Given the description of an element on the screen output the (x, y) to click on. 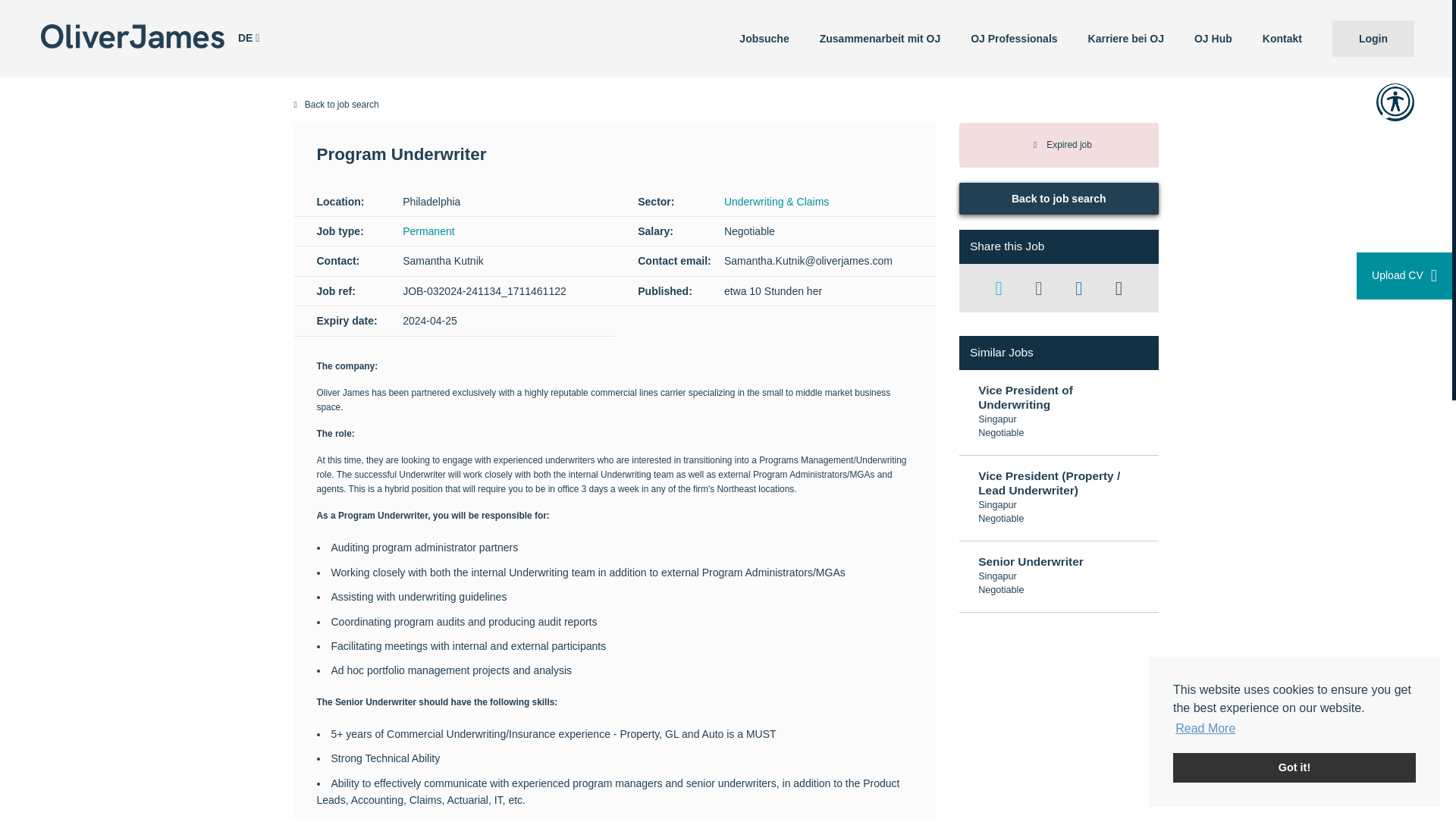
OJ Professionals (1013, 38)
Login (1372, 38)
Karriere bei OJ (1126, 38)
Upload CV (1404, 275)
Read More (1206, 728)
Kontakt (1282, 38)
Jobsuche (763, 38)
Back to job search (726, 104)
Back to job search (1058, 198)
Zusammenarbeit mit OJ (880, 38)
Got it! (1294, 767)
Permanent (428, 231)
